Given the description of an element on the screen output the (x, y) to click on. 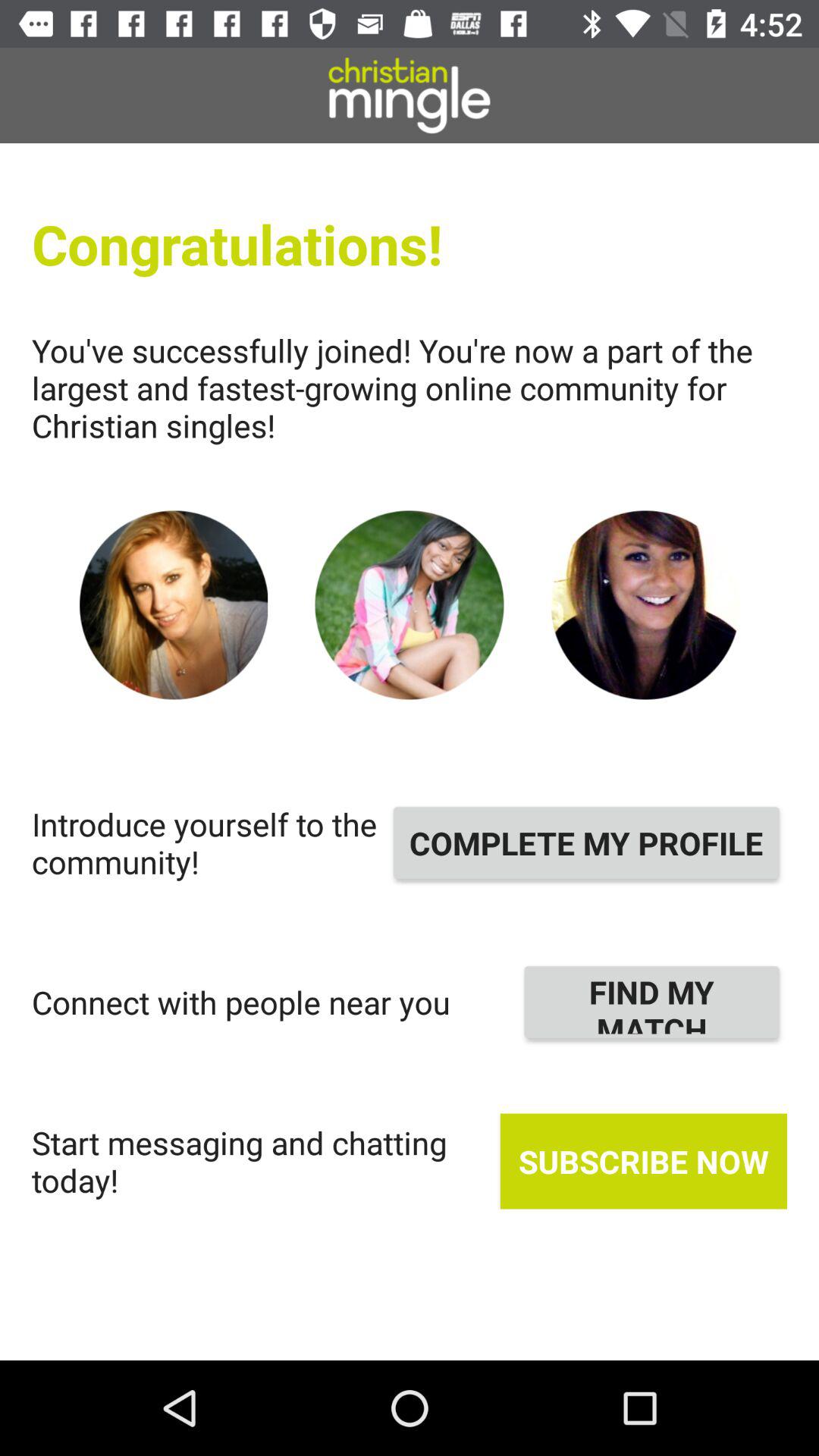
select icon next to the start messaging and item (643, 1161)
